Given the description of an element on the screen output the (x, y) to click on. 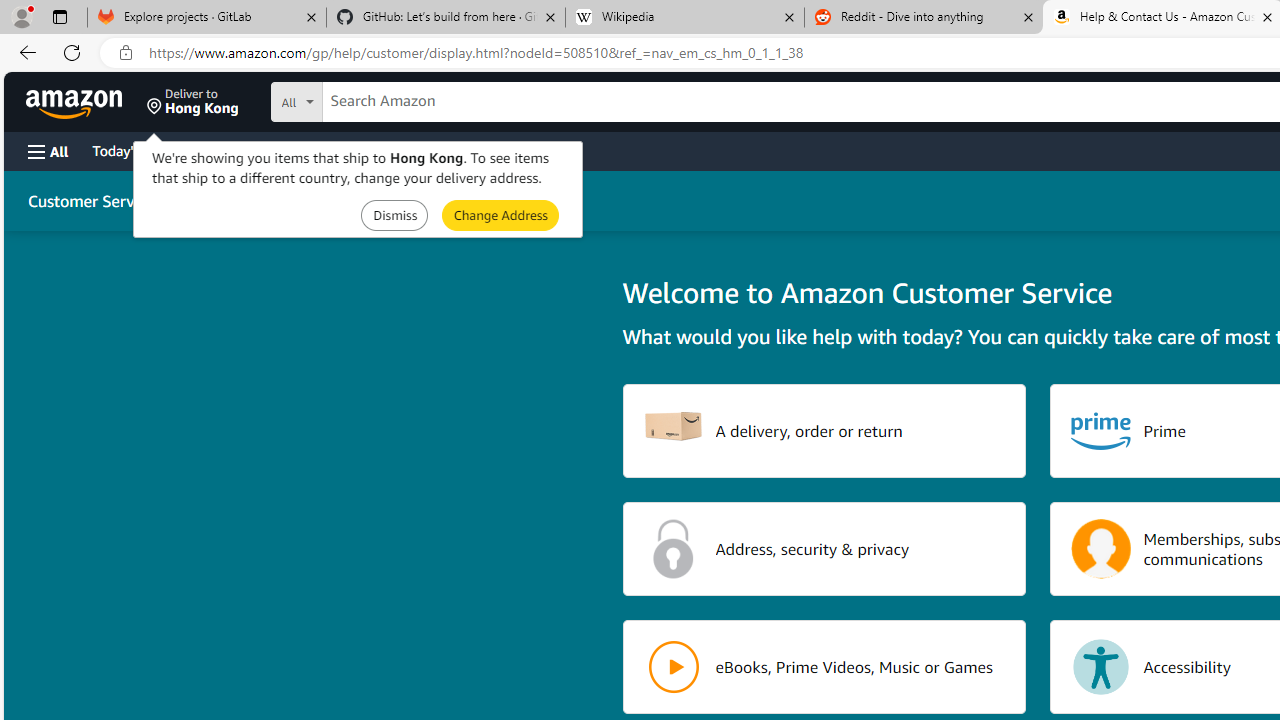
Customer Service (91, 200)
Reddit - Dive into anything (924, 17)
Sell (509, 150)
Registry (360, 150)
Digital Services and Device Support (402, 200)
Open Menu (48, 151)
Submit (499, 214)
Wikipedia (684, 17)
Address, security & privacy (824, 548)
